Given the description of an element on the screen output the (x, y) to click on. 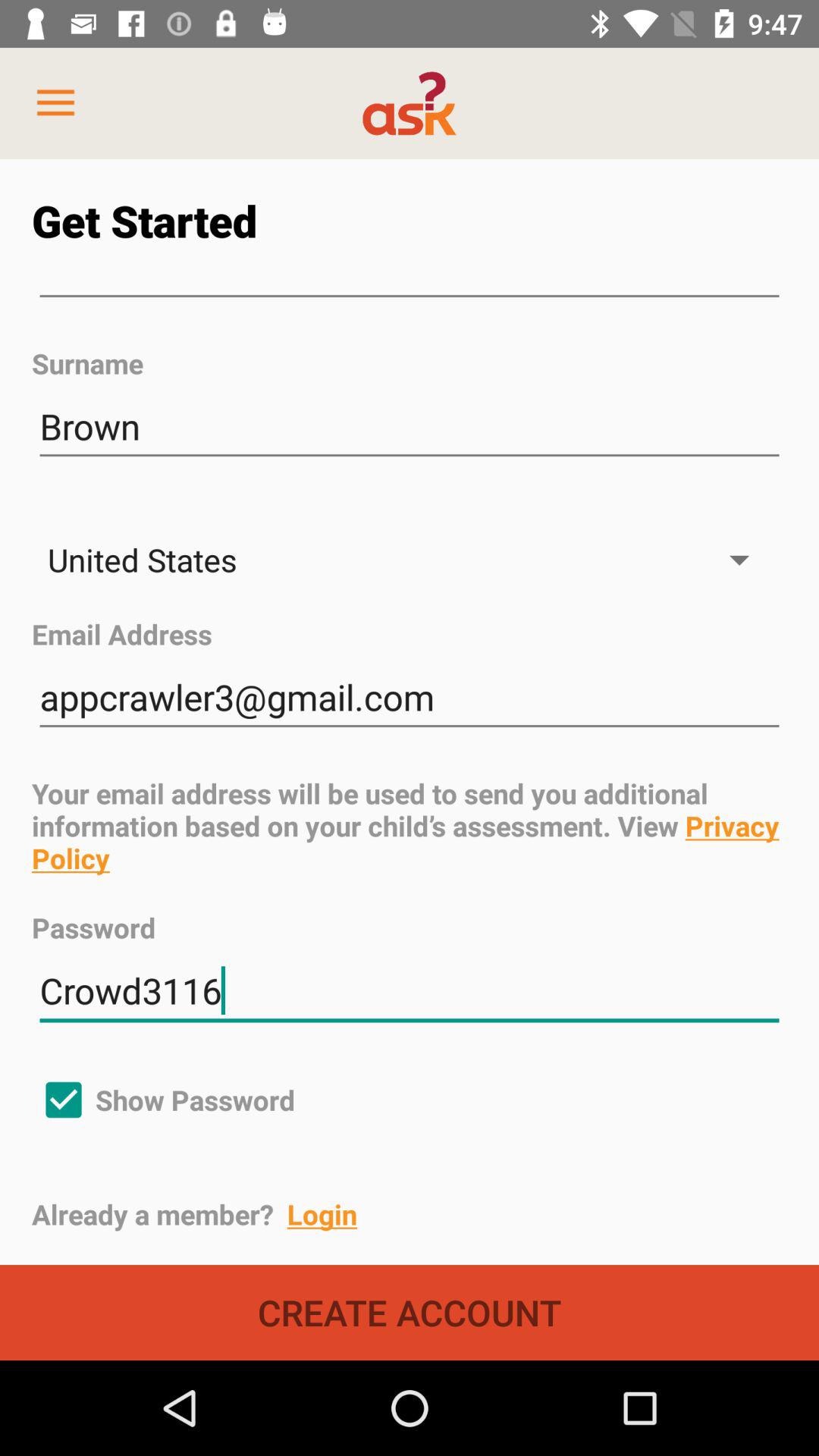
press the item above your email address item (409, 697)
